Given the description of an element on the screen output the (x, y) to click on. 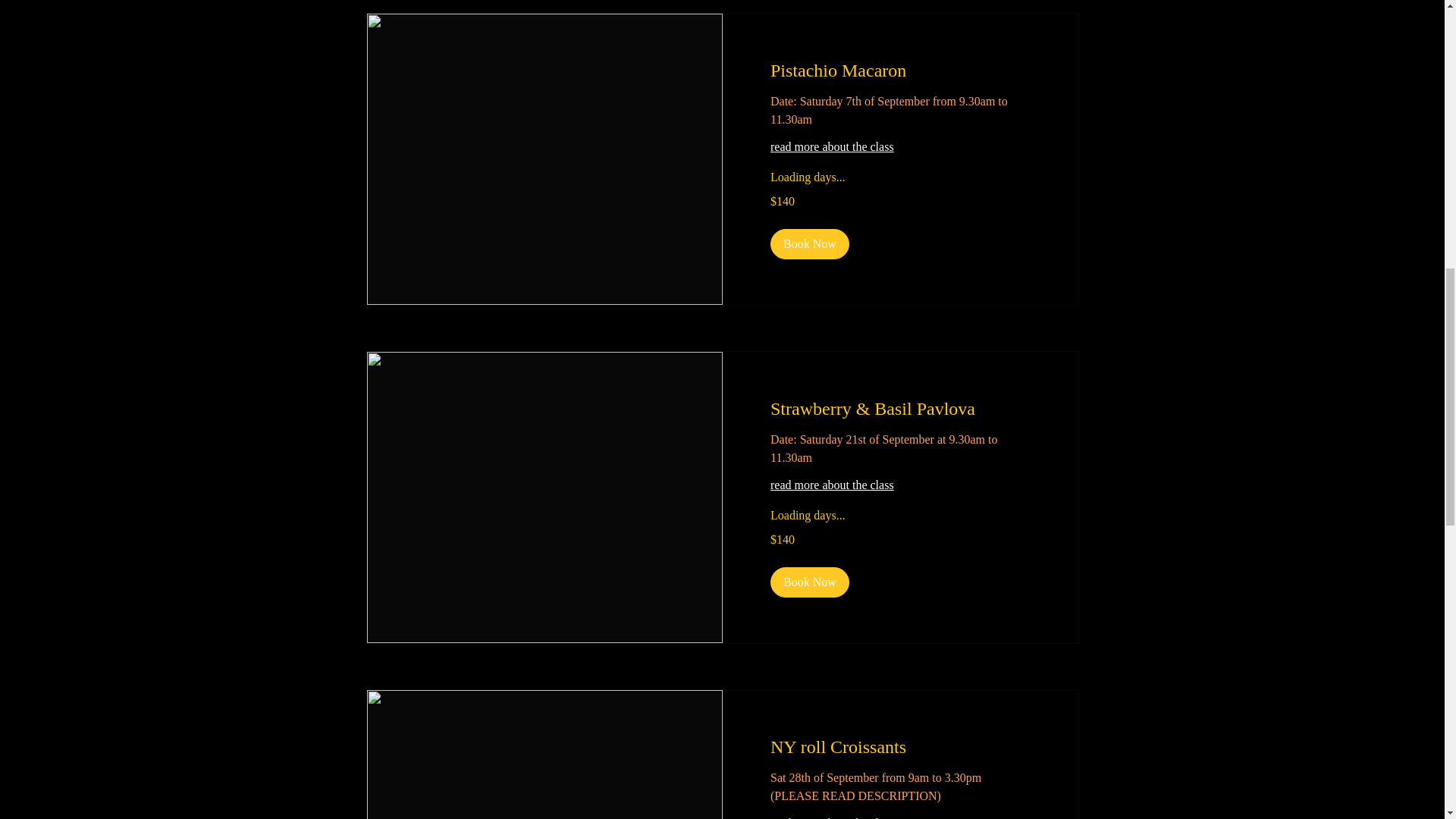
Pistachio Macaron (900, 70)
read more about the class (900, 816)
read more about the class (900, 484)
NY roll Croissants (900, 747)
Book Now (809, 582)
read more about the class (900, 147)
Book Now (809, 244)
